Given the description of an element on the screen output the (x, y) to click on. 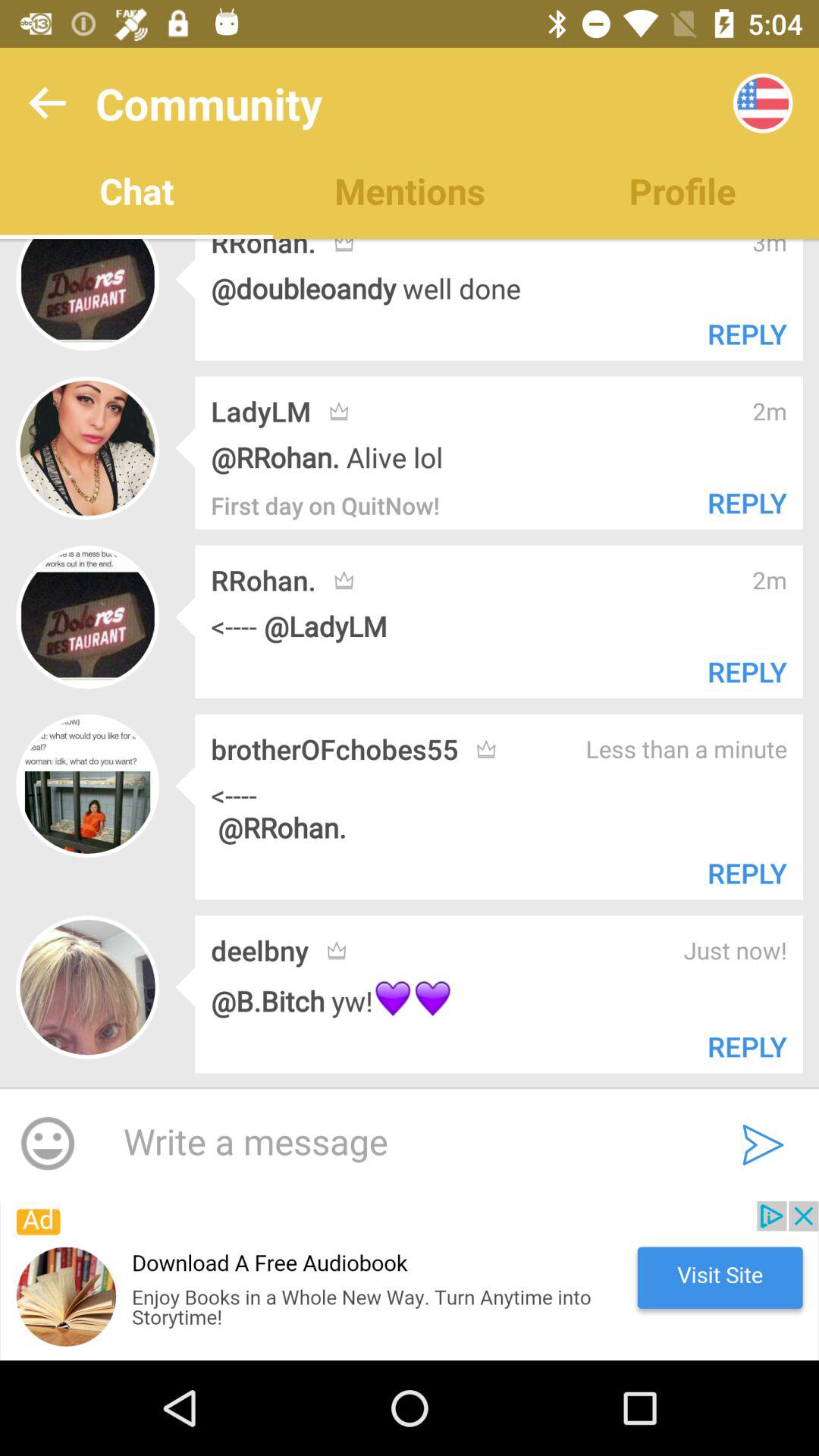
typing page (401, 1143)
